Given the description of an element on the screen output the (x, y) to click on. 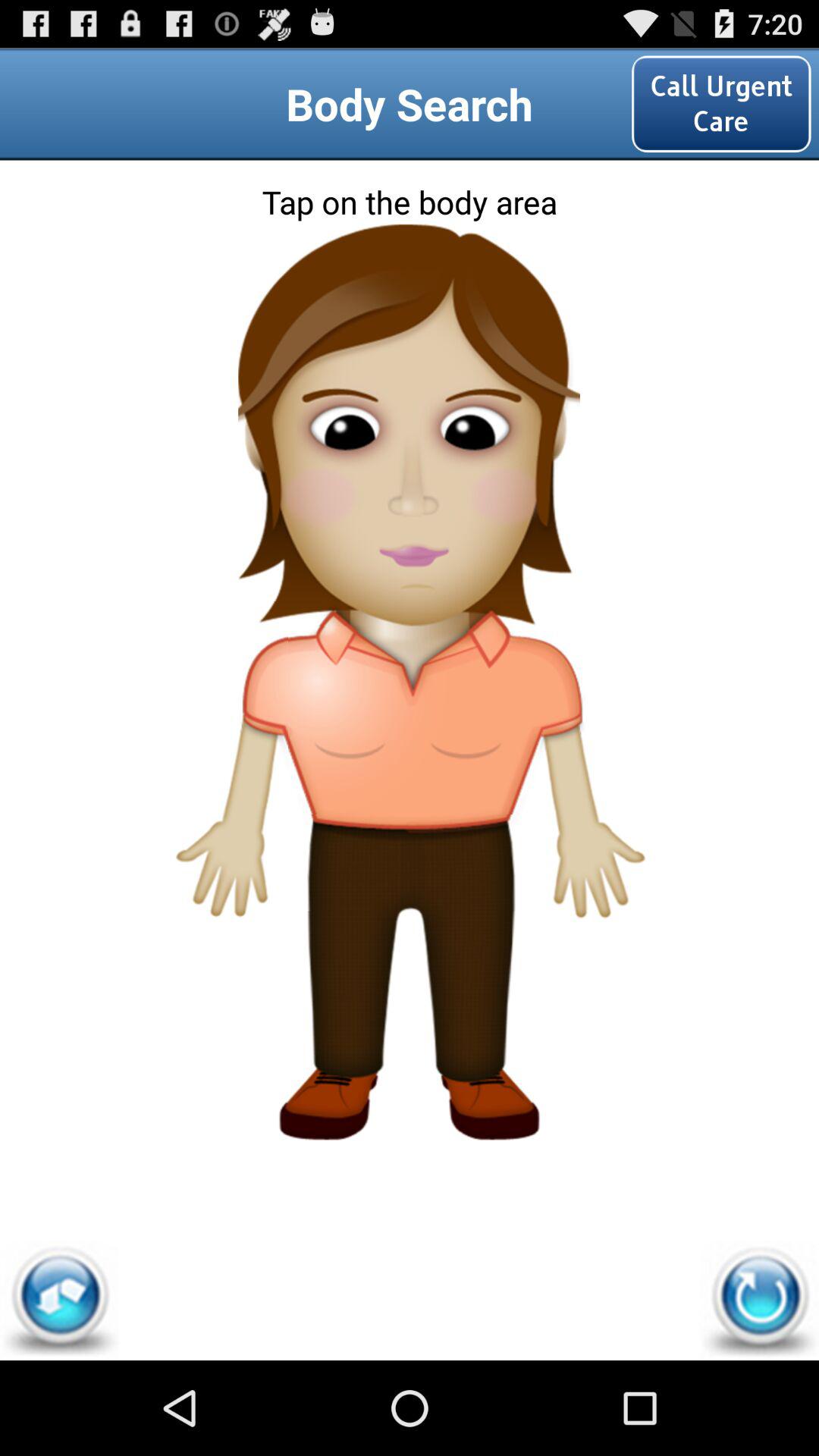
tap on stomach (409, 783)
